Given the description of an element on the screen output the (x, y) to click on. 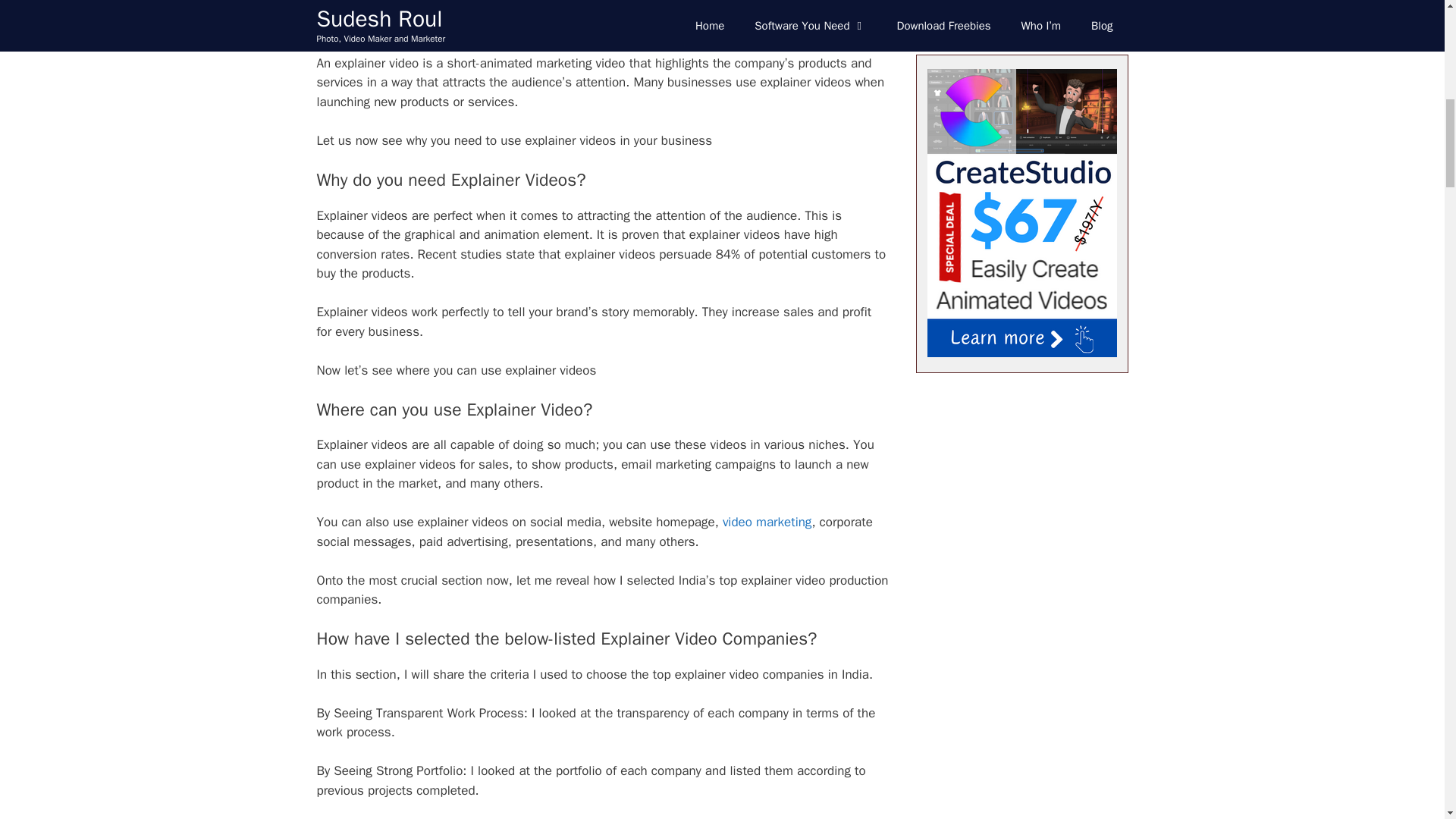
Scroll back to top (34, 693)
video marketing (766, 521)
